Given the description of an element on the screen output the (x, y) to click on. 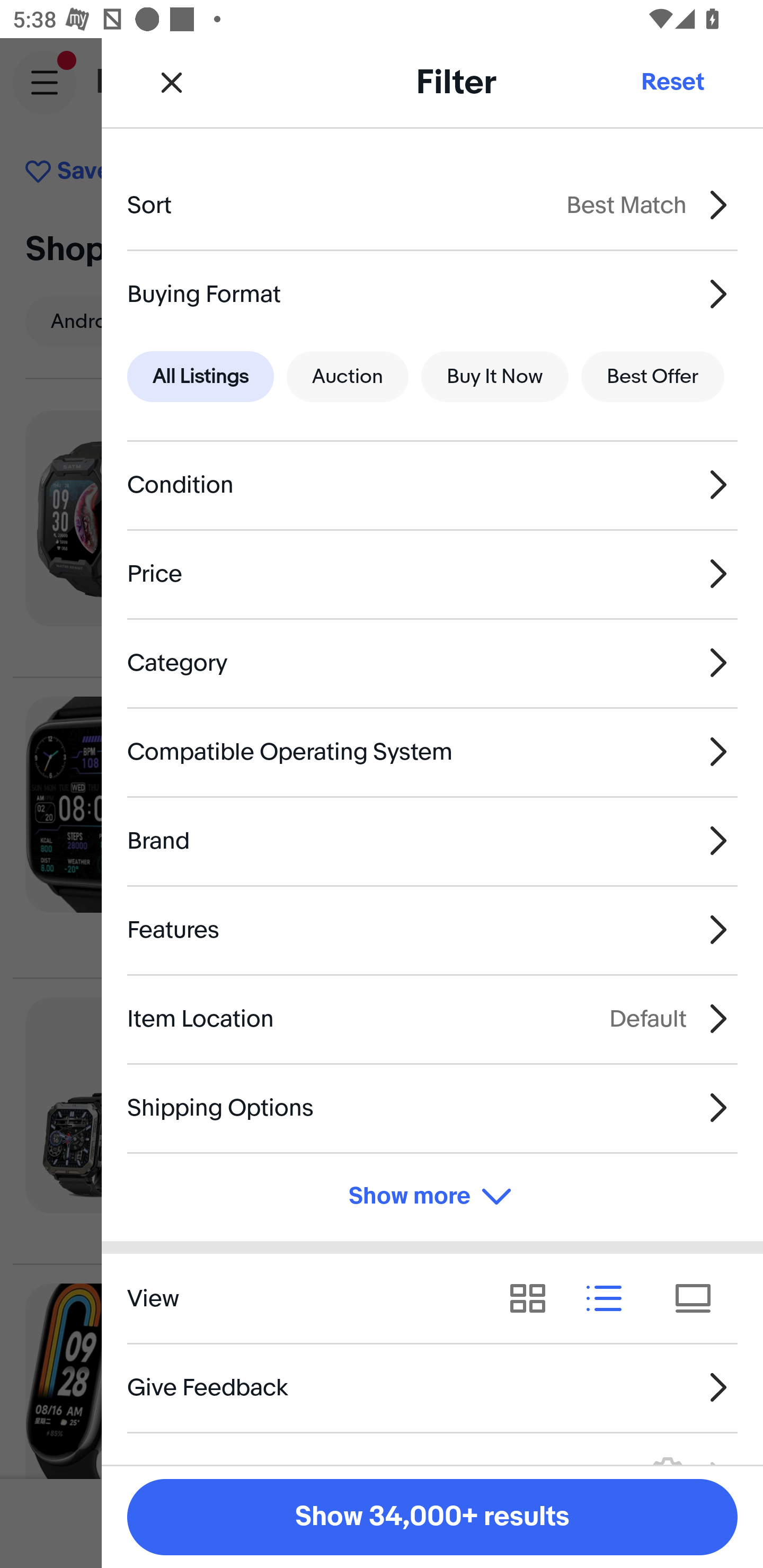
Close Filter (171, 81)
Reset (672, 81)
Buying Format (432, 293)
All Listings (200, 376)
Auction (347, 376)
Buy It Now (494, 376)
Best Offer (652, 376)
Condition (432, 484)
Price (432, 573)
Category (432, 662)
Compatible Operating System (432, 751)
Brand (432, 840)
Features (432, 929)
Item Location Default (432, 1018)
Shipping Options (432, 1107)
Show more (432, 1196)
View results as grid (533, 1297)
View results as list (610, 1297)
View results as tiles (699, 1297)
Show 34,000+ results (432, 1516)
